Given the description of an element on the screen output the (x, y) to click on. 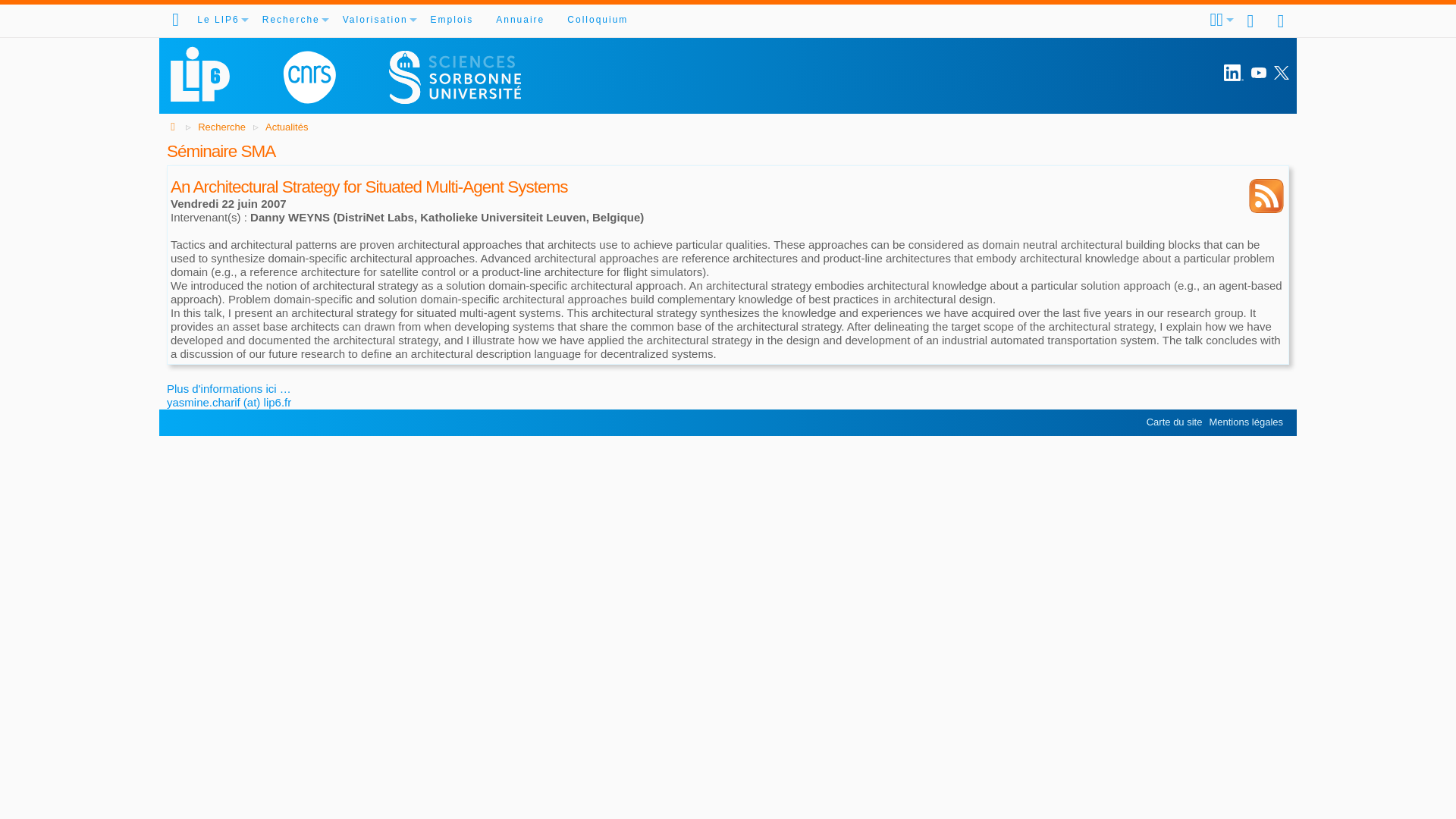
Recherche (290, 19)
Colloquium (597, 19)
Le LIP6 (218, 19)
Valorisation (375, 19)
Follow on X (1281, 72)
Emplois (451, 19)
LinkedIn (1233, 74)
YouTube (1258, 72)
Annuaire (520, 19)
